Given the description of an element on the screen output the (x, y) to click on. 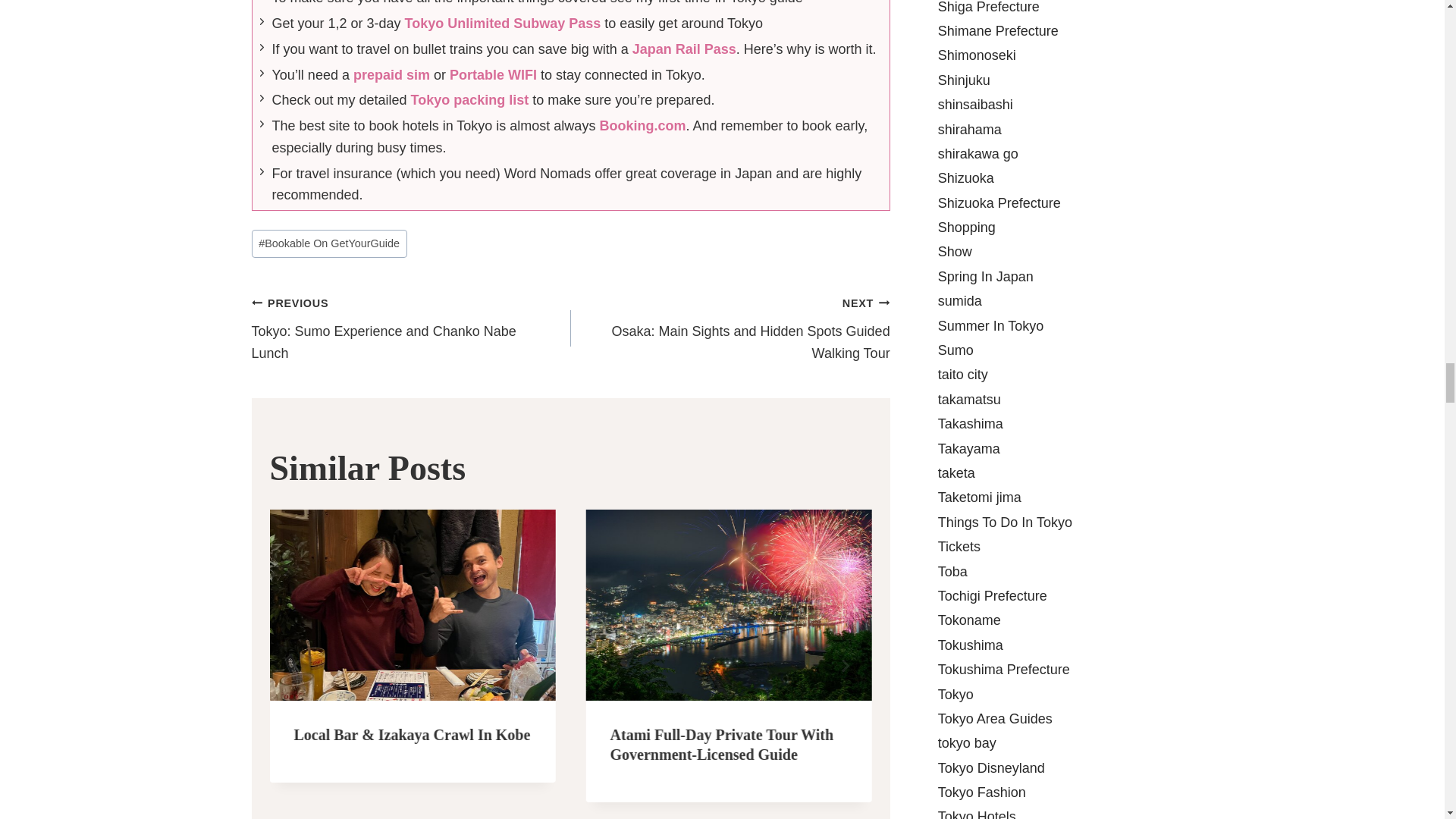
Bookable On GetYourGuide (329, 243)
